Given the description of an element on the screen output the (x, y) to click on. 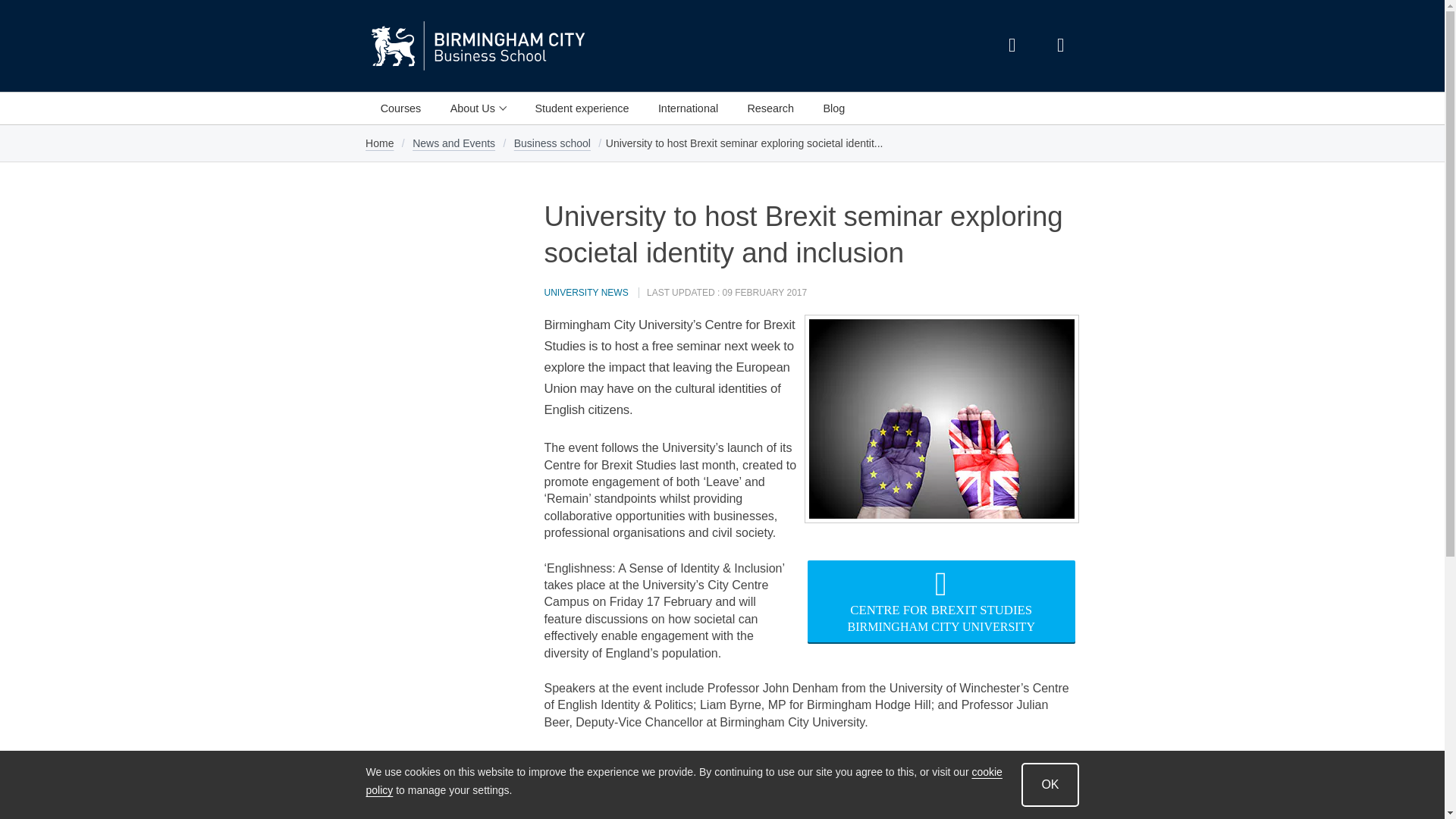
cookie policy (683, 780)
CENTRE FOR BREXIT STUDIES (941, 609)
Home (379, 143)
Blog (833, 108)
View saved courses (1060, 45)
About Us (477, 108)
Business school (552, 143)
Student experience (581, 108)
Book your place (588, 813)
Birmingham City Business School (545, 45)
